Given the description of an element on the screen output the (x, y) to click on. 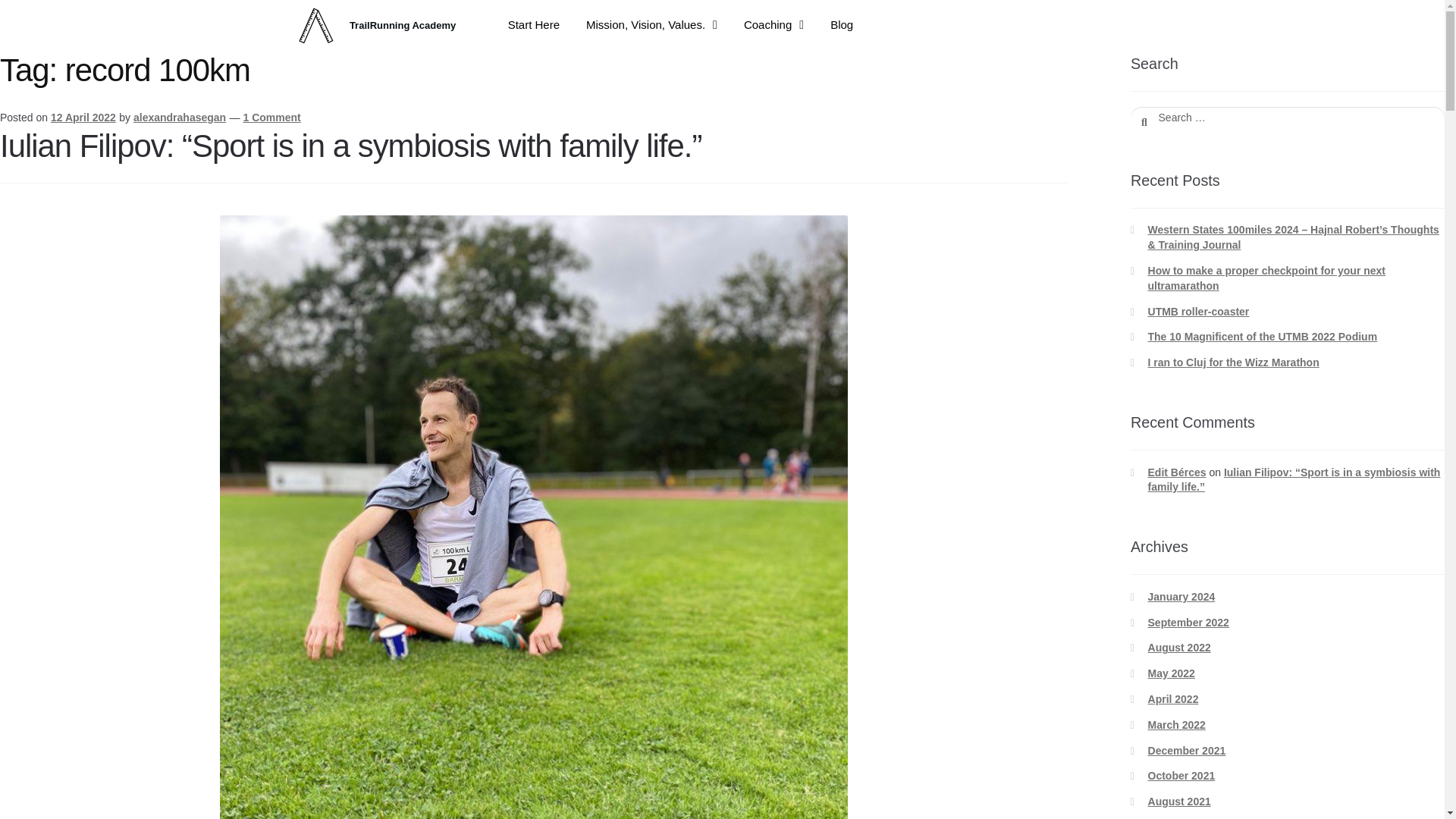
Start Here (533, 24)
Blog (841, 24)
Mission, Vision, Values. (652, 24)
Coaching (773, 24)
TrailRunning Academy (402, 25)
